Given the description of an element on the screen output the (x, y) to click on. 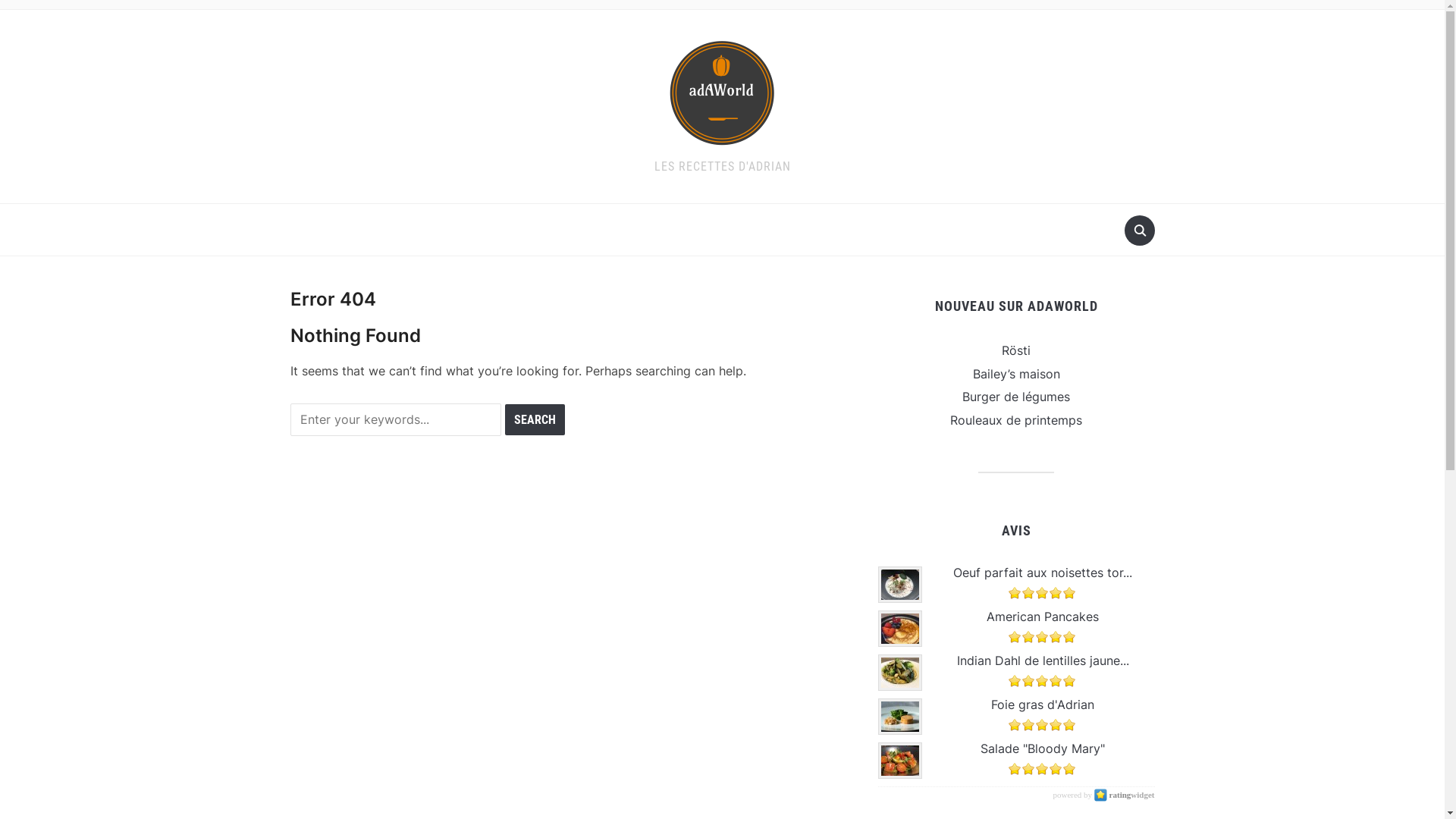
Oeuf parfait aux noisettes tor... Element type: text (1042, 572)
American Pancakes Element type: hover (900, 628)
Search Element type: text (534, 420)
Foie gras d'Adrian Element type: hover (900, 716)
Salade "Bloody Mary" Element type: text (1042, 748)
Foie gras d'Adrian Element type: text (1042, 704)
Indian Dahl de lentilles jaune... Element type: text (1043, 660)
American Pancakes Element type: text (1042, 616)
Search Element type: text (1138, 230)
Rouleaux de printemps Element type: text (1016, 419)
Salade  Element type: hover (900, 760)
Oeuf parfait aux noisettes tor... Element type: hover (900, 584)
Indian Dahl de lentilles jaune... Element type: hover (900, 672)
ratingwidget Element type: text (1124, 794)
